Given the description of an element on the screen output the (x, y) to click on. 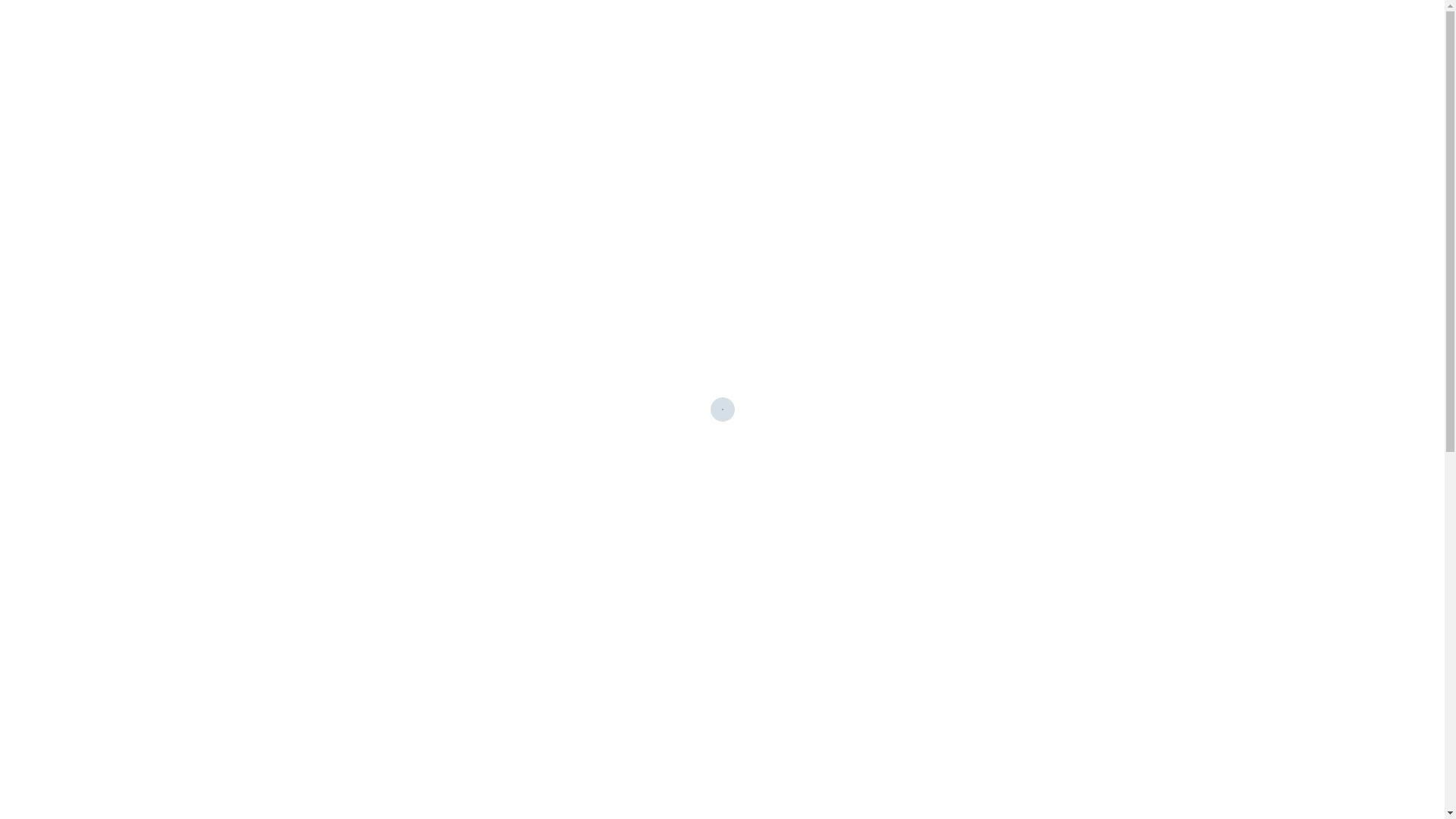
SUPPORT Element type: text (994, 56)
051/80 38 08 Element type: text (1131, 54)
WEBSITES Element type: text (633, 56)
PILARSOFTWARE Element type: text (531, 56)
OFFERTE AANVRAGEN Element type: text (1307, 55)
Welkom Element type: text (321, 148)
051/80 38 08 Element type: text (339, 796)
TIMEAPP Element type: text (712, 56)
CONTACTEER ONS Element type: text (892, 56)
WERKING Element type: text (789, 56)
